Given the description of an element on the screen output the (x, y) to click on. 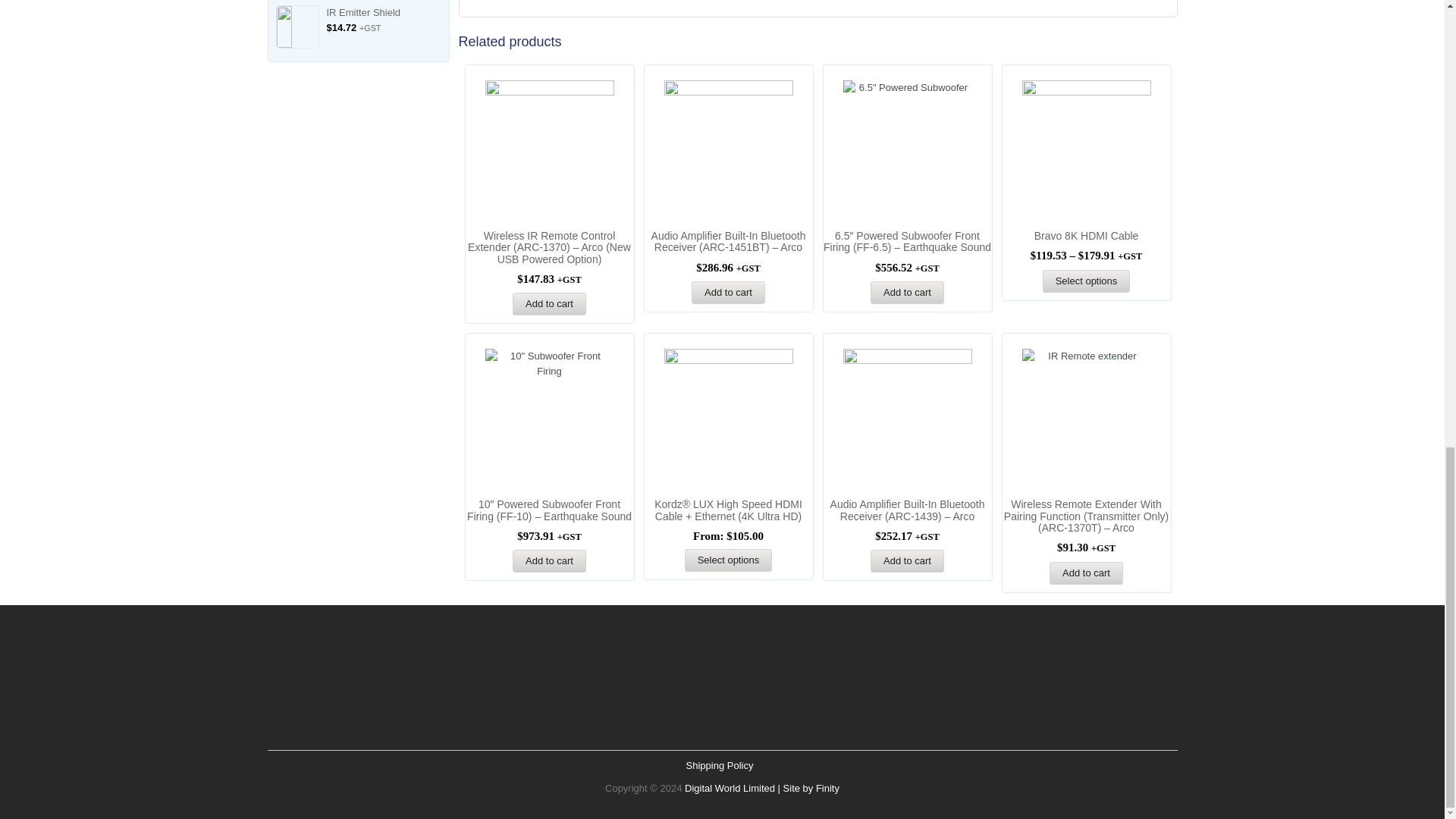
Bravo 8K HDMI Cable (1086, 236)
